Given the description of an element on the screen output the (x, y) to click on. 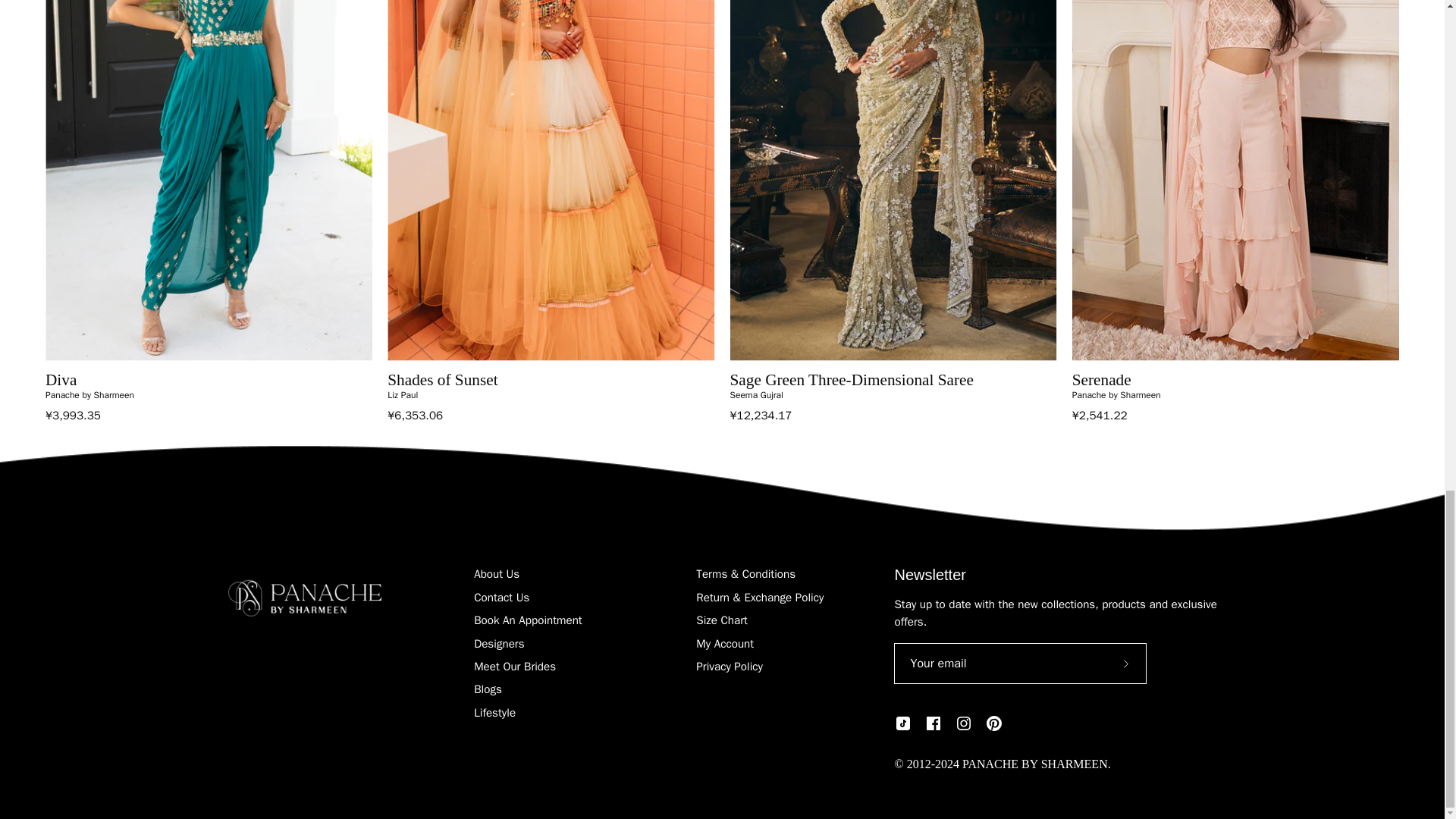
View Panache by Sharmeen on Facebook (933, 723)
View Panache by Sharmeen on Instagram (963, 723)
View Panache by Sharmeen on Tiktok (902, 723)
View Panache by Sharmeen on Pinterest (994, 723)
